Given the description of an element on the screen output the (x, y) to click on. 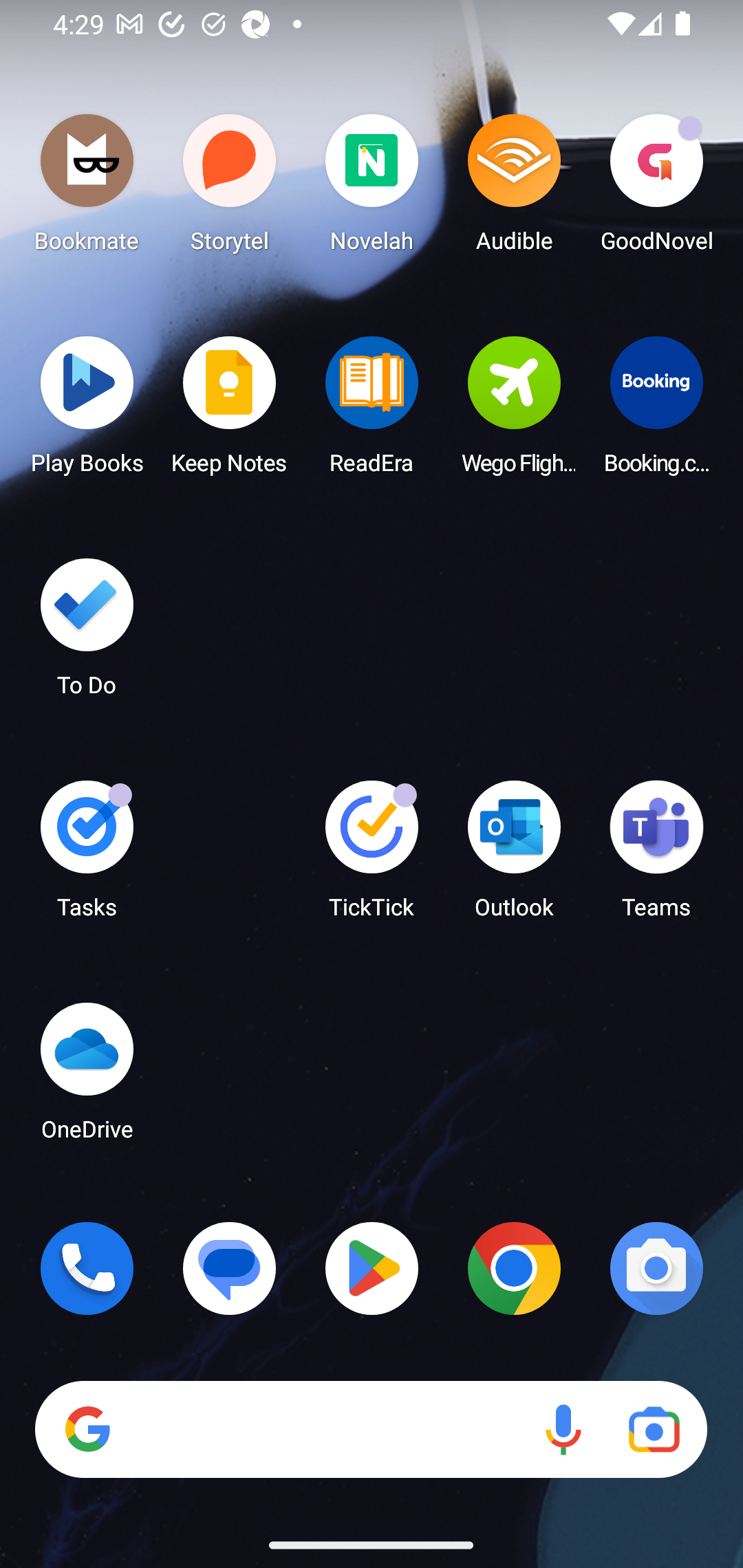
Bookmate (86, 188)
Storytel (229, 188)
Novelah (371, 188)
Audible (513, 188)
GoodNovel GoodNovel has 1 notification (656, 188)
Play Books (86, 410)
Keep Notes (229, 410)
ReadEra (371, 410)
Wego Flights & Hotels (513, 410)
Booking.com (656, 410)
To Do (86, 633)
Tasks Tasks has 1 notification (86, 854)
TickTick TickTick has 3 notifications (371, 854)
Outlook (513, 854)
Teams (656, 854)
OneDrive (86, 1076)
Phone (86, 1268)
Messages (229, 1268)
Play Store (371, 1268)
Chrome (513, 1268)
Camera (656, 1268)
Search Voice search Google Lens (370, 1429)
Voice search (562, 1429)
Google Lens (653, 1429)
